Given the description of an element on the screen output the (x, y) to click on. 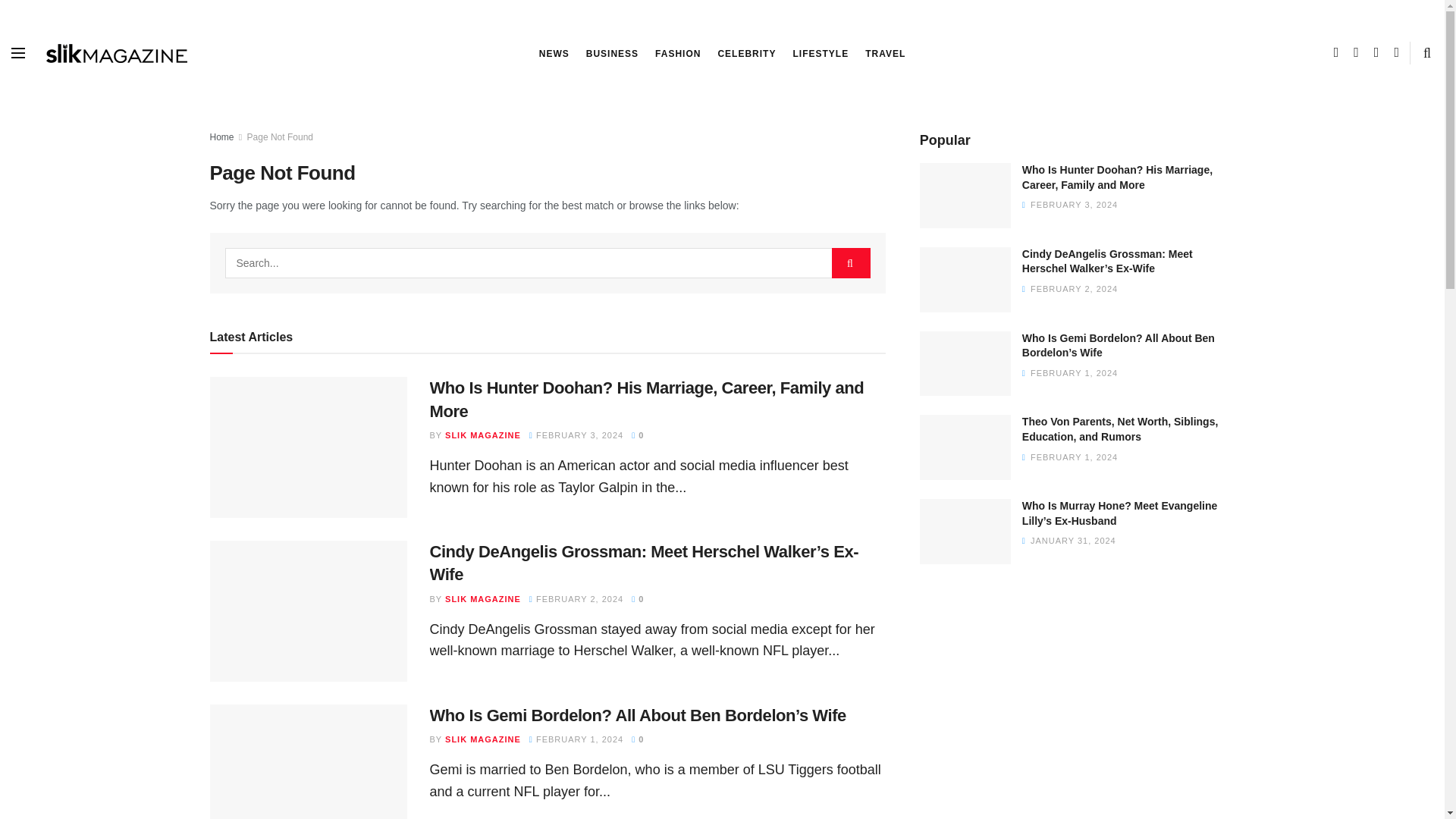
Page Not Found (280, 136)
0 (637, 434)
Home (220, 136)
SLIK MAGAZINE (483, 434)
NEWS (553, 53)
BUSINESS (612, 53)
FEBRUARY 3, 2024 (576, 434)
CELEBRITY (746, 53)
TRAVEL (884, 53)
FASHION (677, 53)
